Given the description of an element on the screen output the (x, y) to click on. 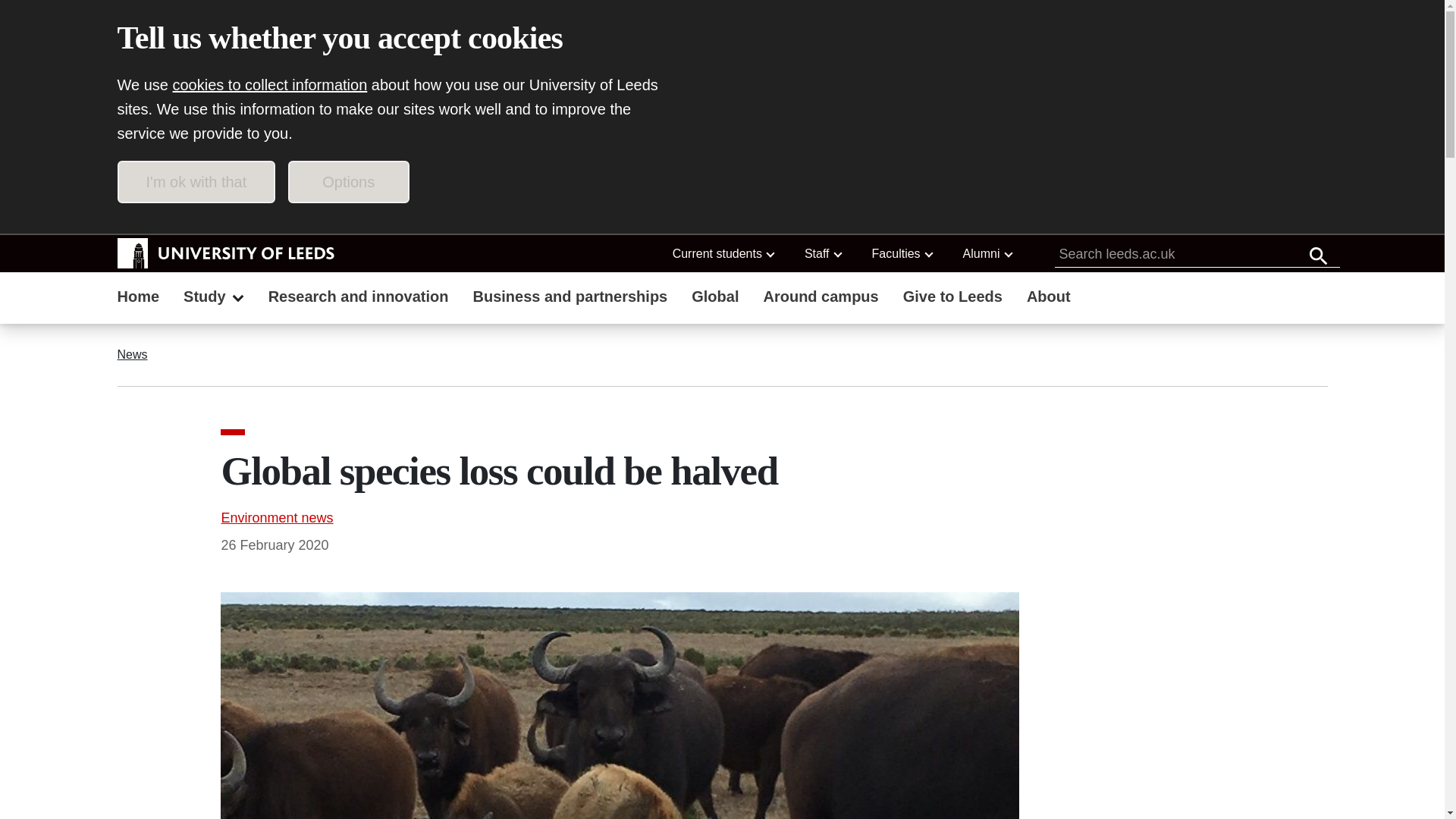
Global (715, 297)
Home (137, 297)
Current students (723, 253)
cookies to collect information (270, 84)
Business and partnerships (569, 297)
Research and innovation (358, 297)
Skip to main content (202, 216)
Options (348, 181)
I'm ok with that (195, 181)
Faculties (902, 253)
Study (213, 297)
Alumni (986, 253)
Staff (822, 253)
